Given the description of an element on the screen output the (x, y) to click on. 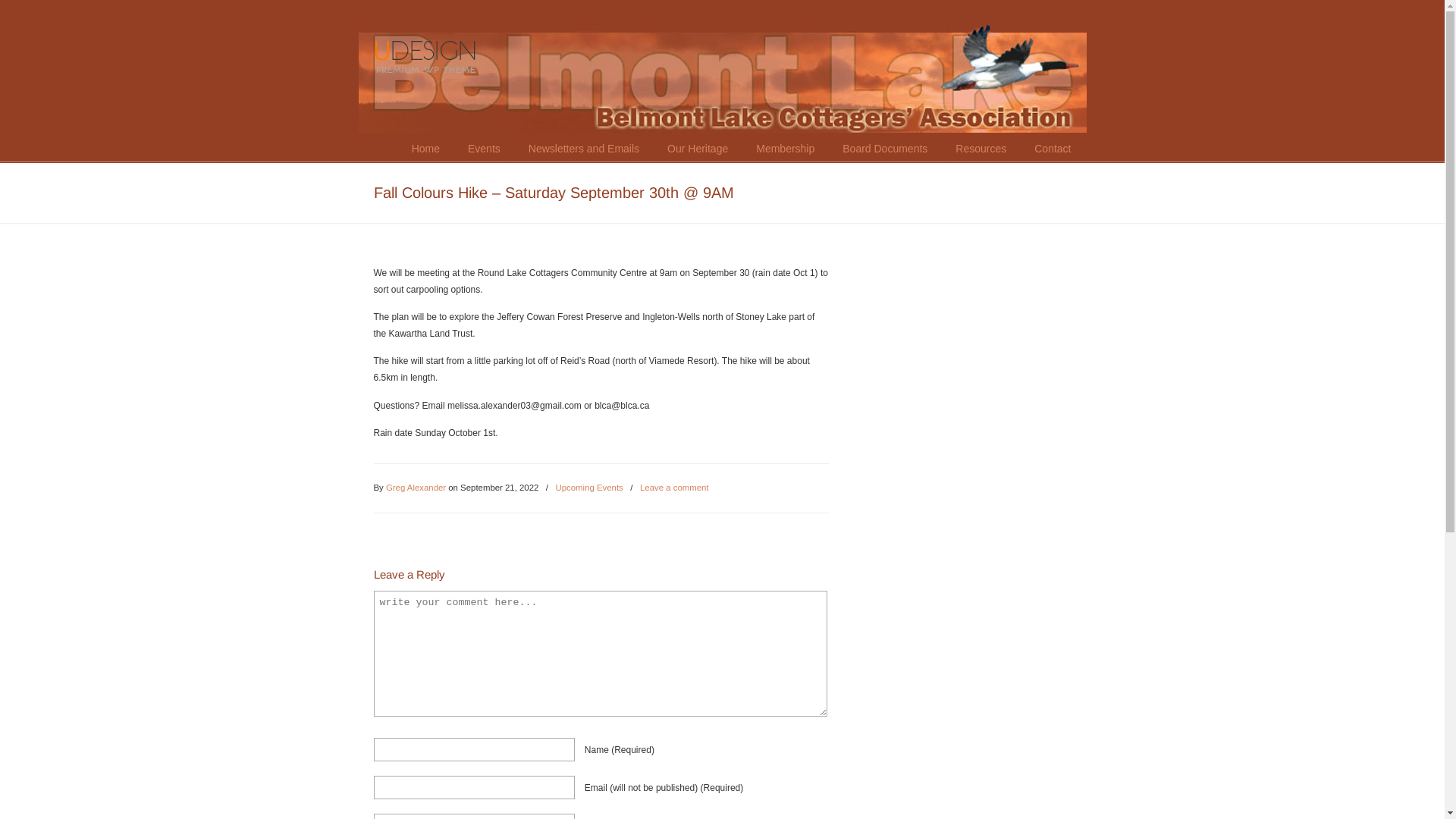
Leave a comment Element type: text (674, 487)
Our Heritage Element type: text (697, 148)
Board Documents Element type: text (884, 148)
Upcoming Events Element type: text (589, 487)
Newsletters and Emails Element type: text (583, 148)
Events Element type: text (483, 148)
Resources Element type: text (980, 148)
Greg Alexander Element type: text (415, 487)
Contact Element type: text (1052, 148)
Home Element type: text (425, 148)
Belmont Lake Cottagers' Association Element type: text (439, 45)
Membership Element type: text (784, 148)
